Given the description of an element on the screen output the (x, y) to click on. 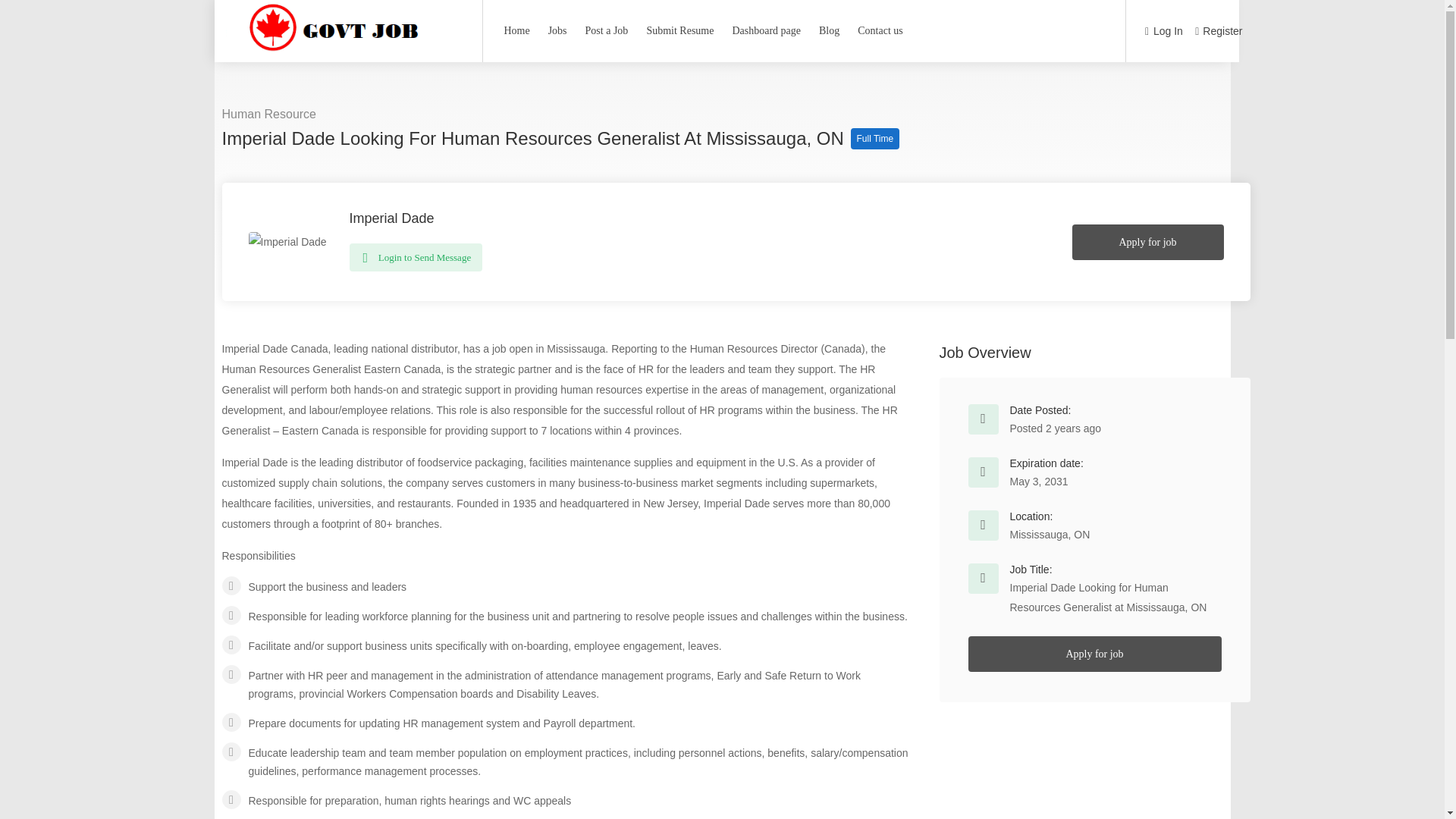
Post a Job (606, 30)
Blog (828, 30)
Home (516, 30)
Login to Send Message (415, 257)
Jobs (557, 30)
Human Resource (268, 113)
Contact us (879, 30)
Dashboard page (766, 30)
Submit Resume (679, 30)
Canada Government Jobs (342, 51)
